Given the description of an element on the screen output the (x, y) to click on. 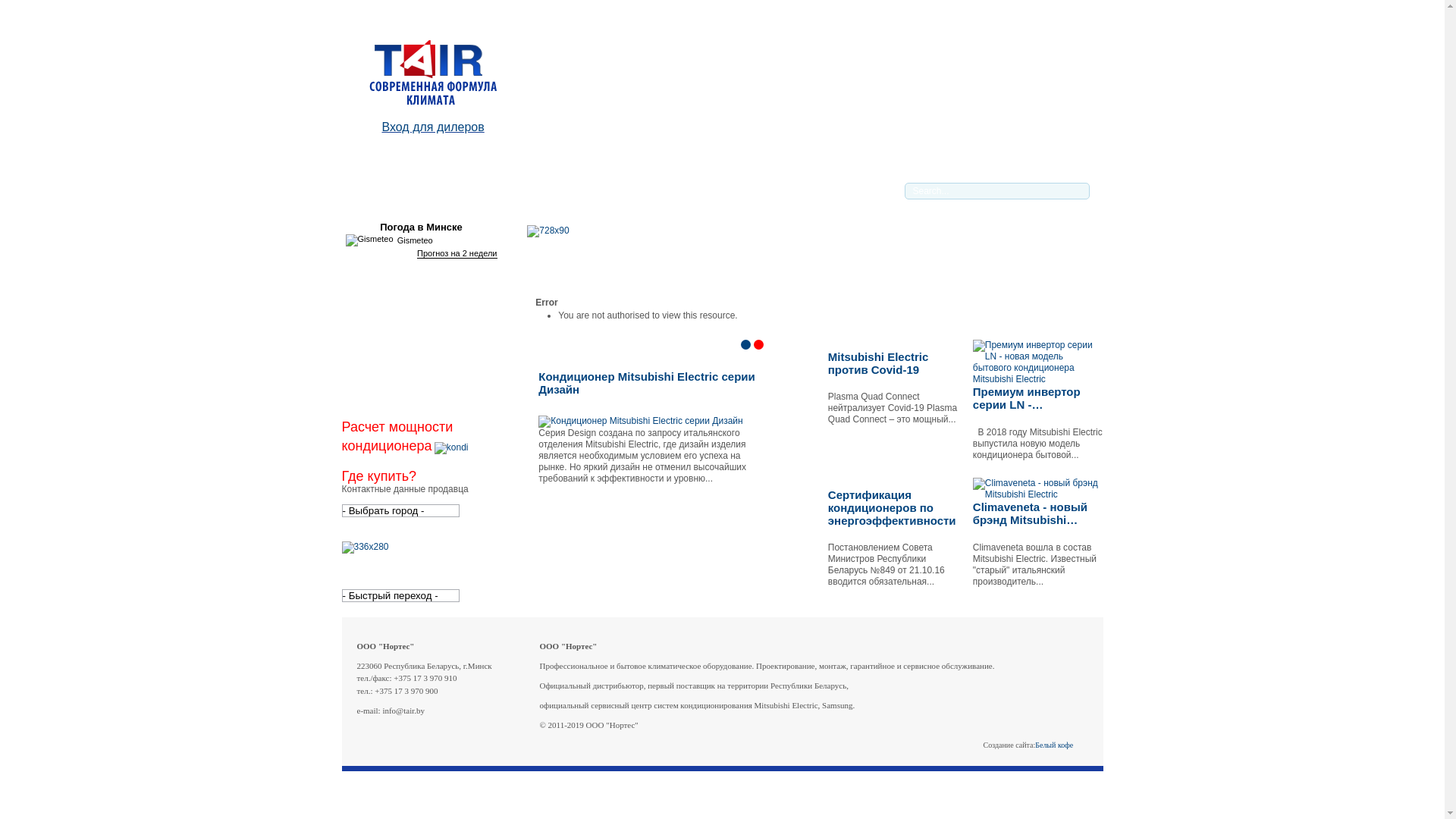
Gismeteo Element type: hover (369, 240)
Gismeteo Element type: text (389, 239)
